Given the description of an element on the screen output the (x, y) to click on. 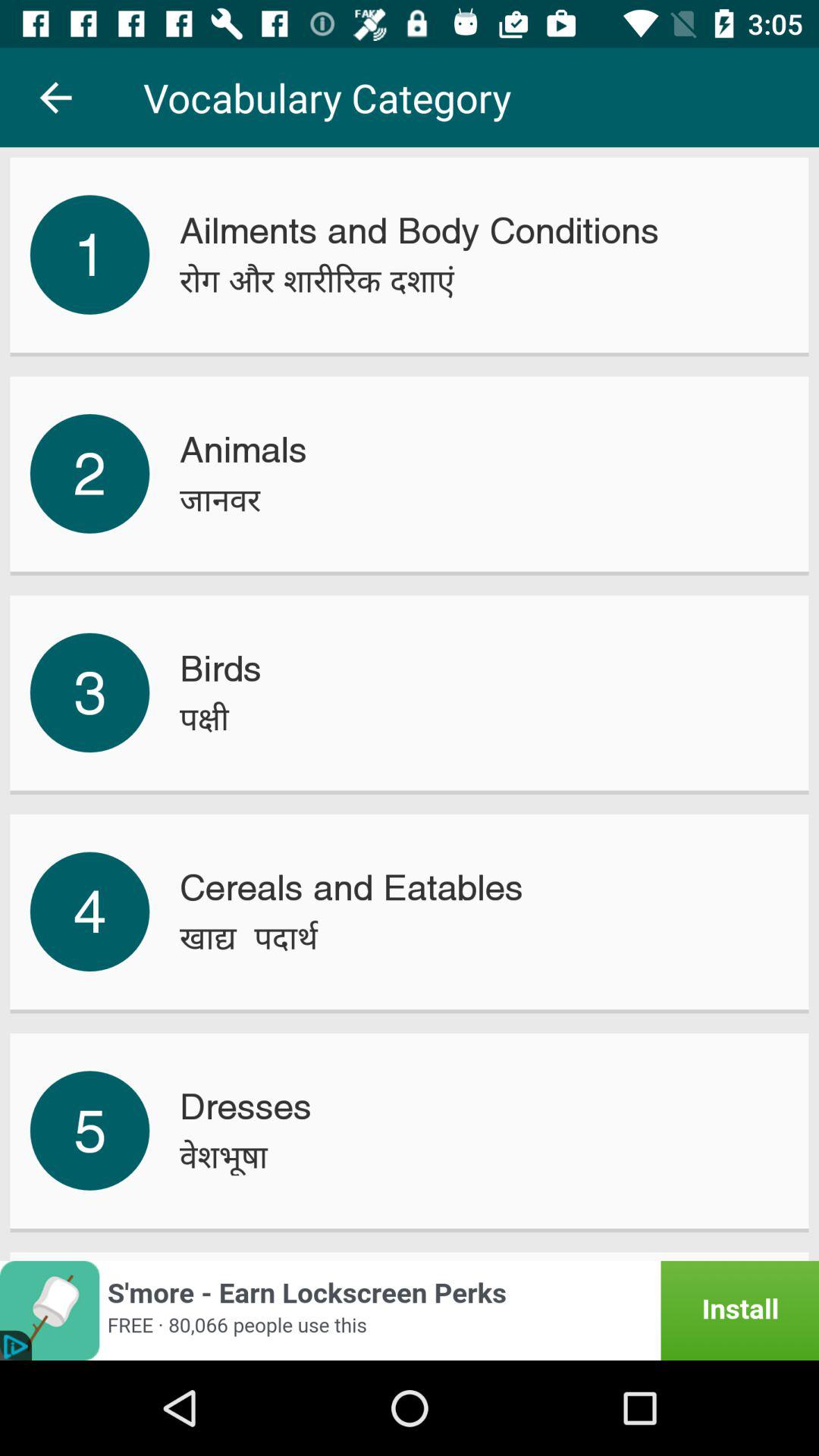
press the icon above 4 (89, 692)
